Given the description of an element on the screen output the (x, y) to click on. 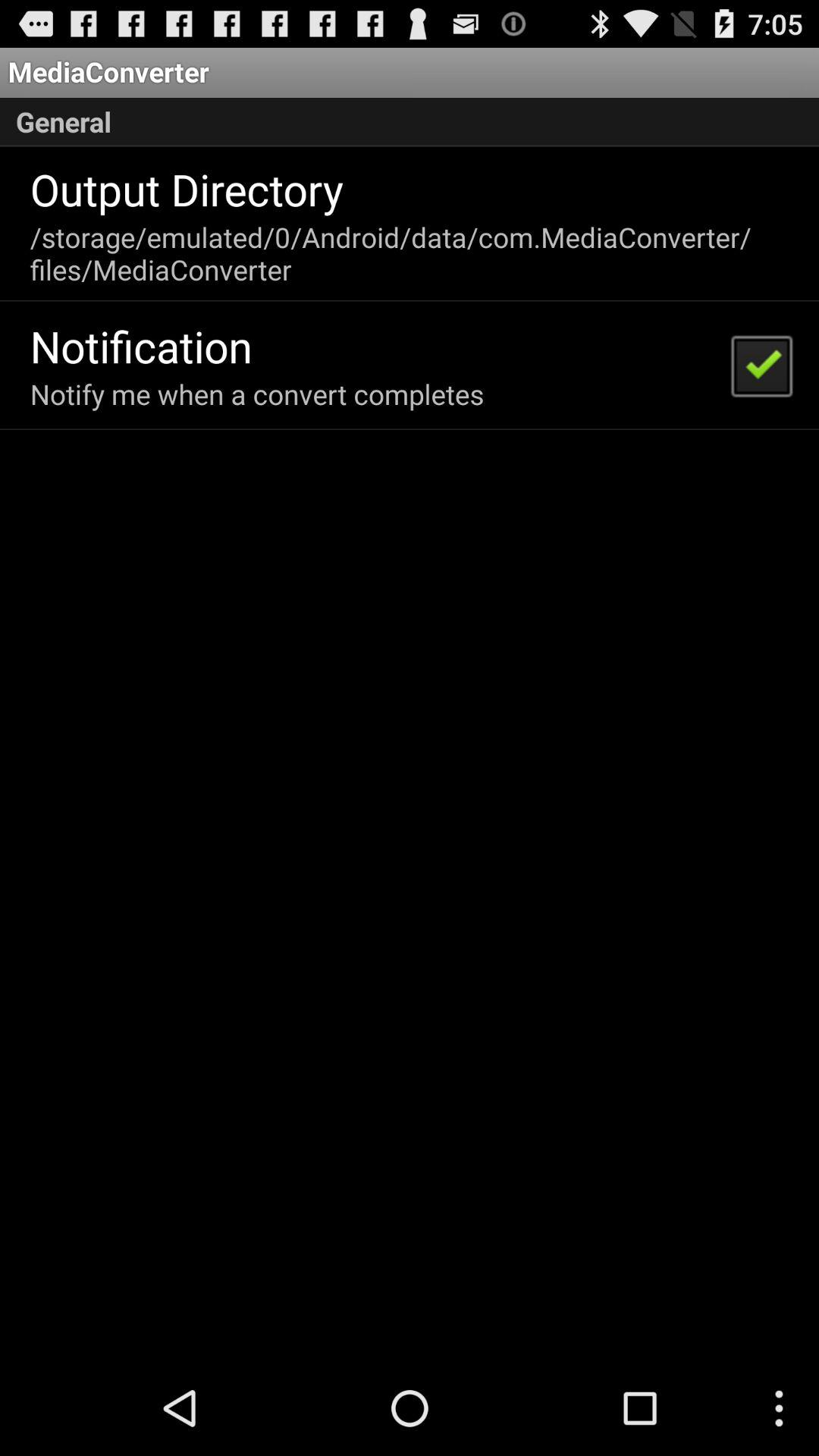
scroll until storage emulated 0 icon (408, 253)
